Given the description of an element on the screen output the (x, y) to click on. 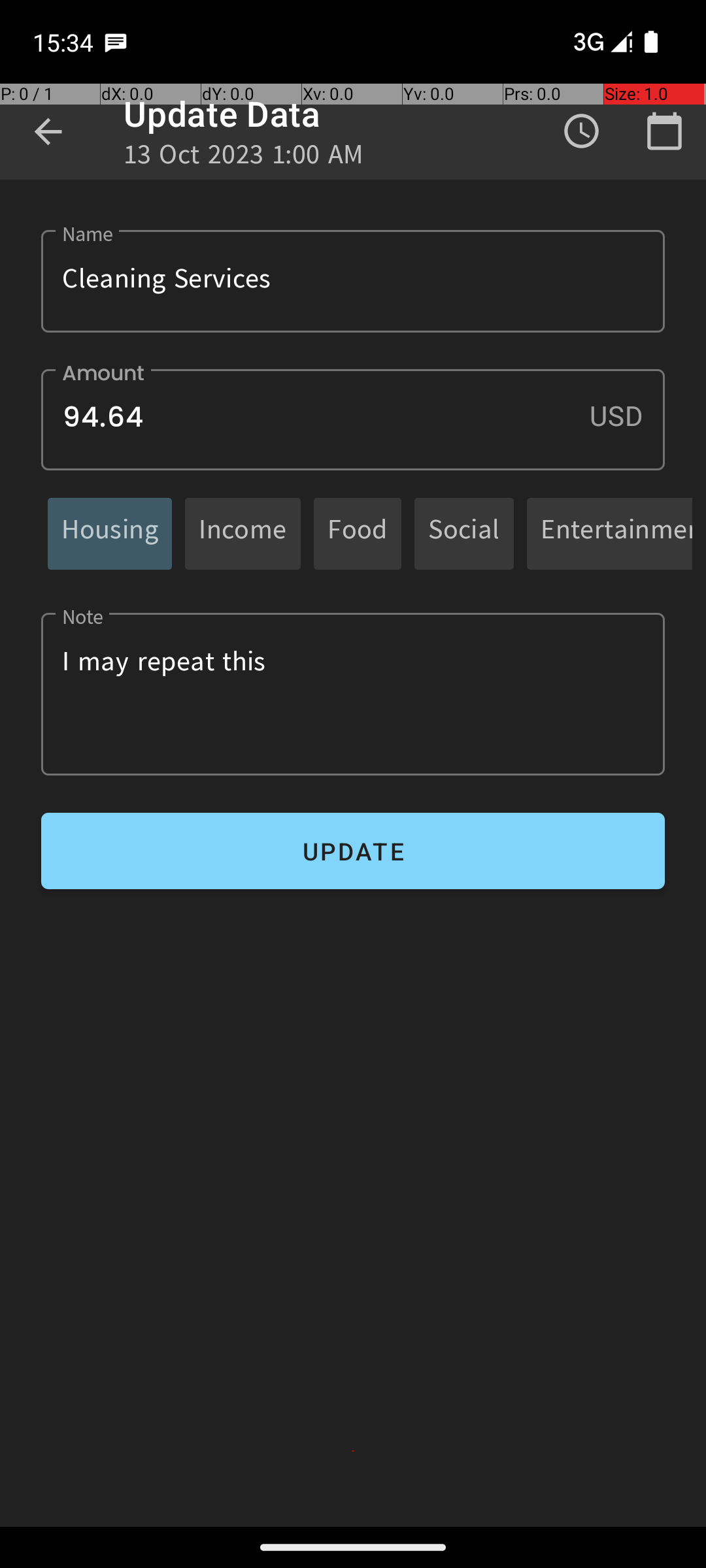
Update Data Element type: android.widget.TextView (221, 113)
13 Oct 2023 1:00 AM Element type: android.widget.TextView (243, 157)
Cleaning Services Element type: android.widget.EditText (352, 280)
94.64 Element type: android.widget.EditText (352, 419)
I may repeat this Element type: android.widget.EditText (352, 693)
UPDATE Element type: android.widget.Button (352, 850)
